Given the description of an element on the screen output the (x, y) to click on. 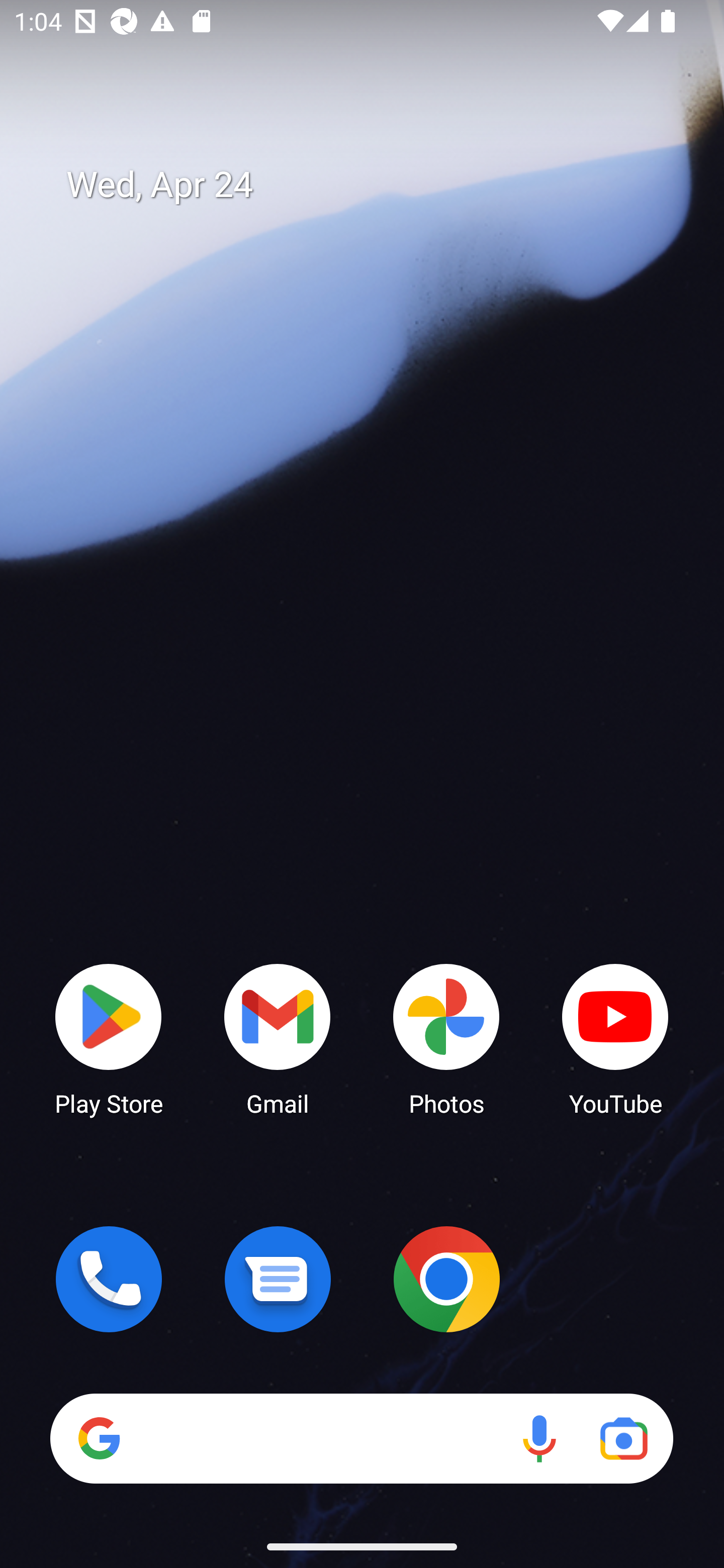
Wed, Apr 24 (375, 184)
Play Store (108, 1038)
Gmail (277, 1038)
Photos (445, 1038)
YouTube (615, 1038)
Phone (108, 1279)
Messages (277, 1279)
Chrome (446, 1279)
Search Voice search Google Lens (361, 1438)
Voice search (539, 1438)
Google Lens (623, 1438)
